Given the description of an element on the screen output the (x, y) to click on. 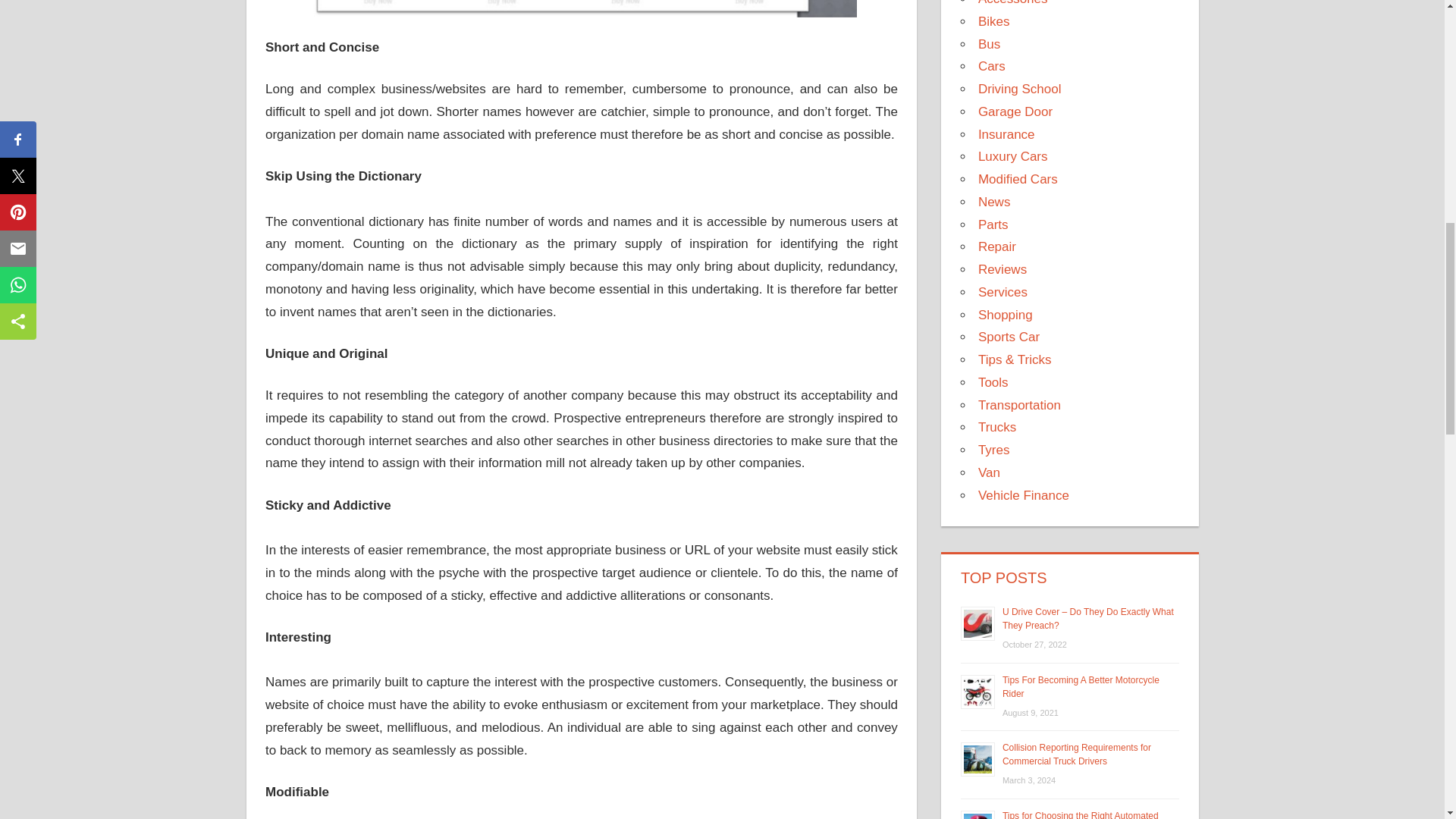
Cool Business Name (581, 8)
